Given the description of an element on the screen output the (x, y) to click on. 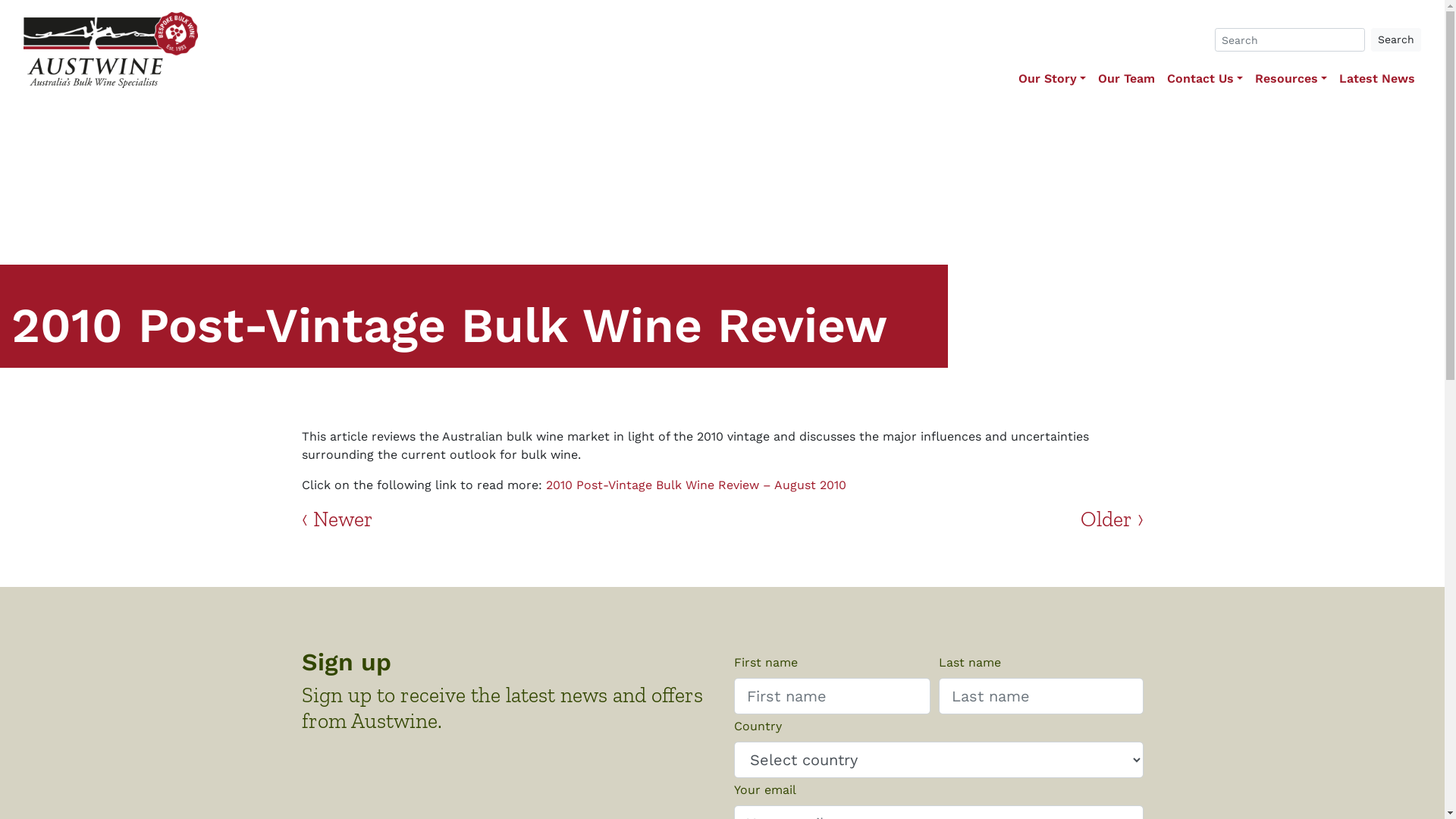
Contact Us Element type: text (1204, 78)
Resources Element type: text (1290, 78)
Latest News Element type: text (1377, 78)
Our Story Element type: text (1052, 78)
Search Element type: text (1396, 39)
Our Team Element type: text (1126, 78)
